Given the description of an element on the screen output the (x, y) to click on. 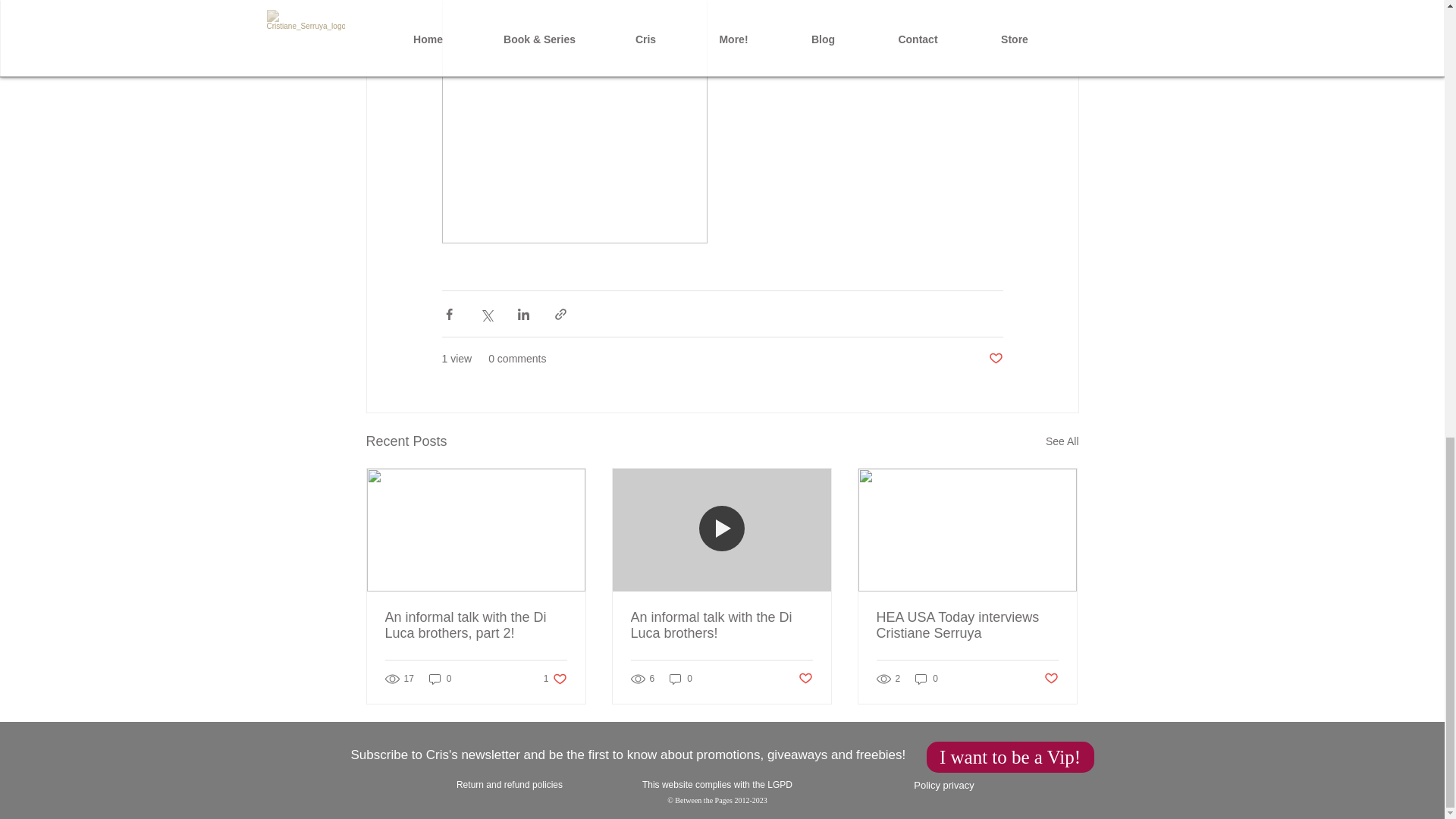
0 (926, 677)
An informal talk with the Di Luca brothers, part 2! (476, 625)
An informal talk with the Di Luca brothers! (721, 625)
I want to be a Vip! (555, 677)
0 (1010, 757)
0 (681, 677)
Post not marked as liked (440, 677)
Post not marked as liked (995, 358)
Post not marked as liked (804, 678)
HEA USA Today interviews Cristiane Serruya (1050, 678)
See All (967, 625)
